Given the description of an element on the screen output the (x, y) to click on. 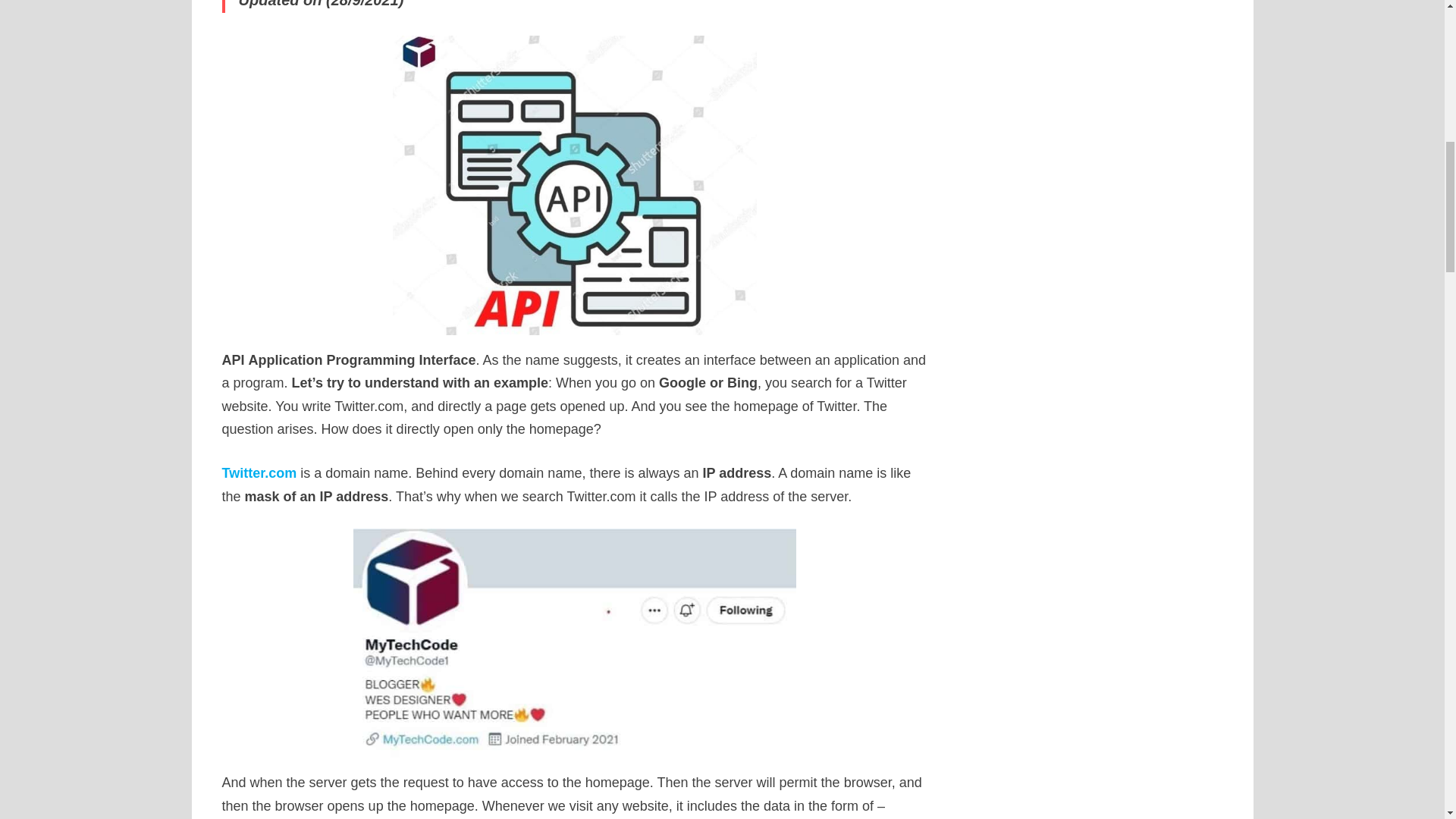
Twitter.com (259, 473)
